Given the description of an element on the screen output the (x, y) to click on. 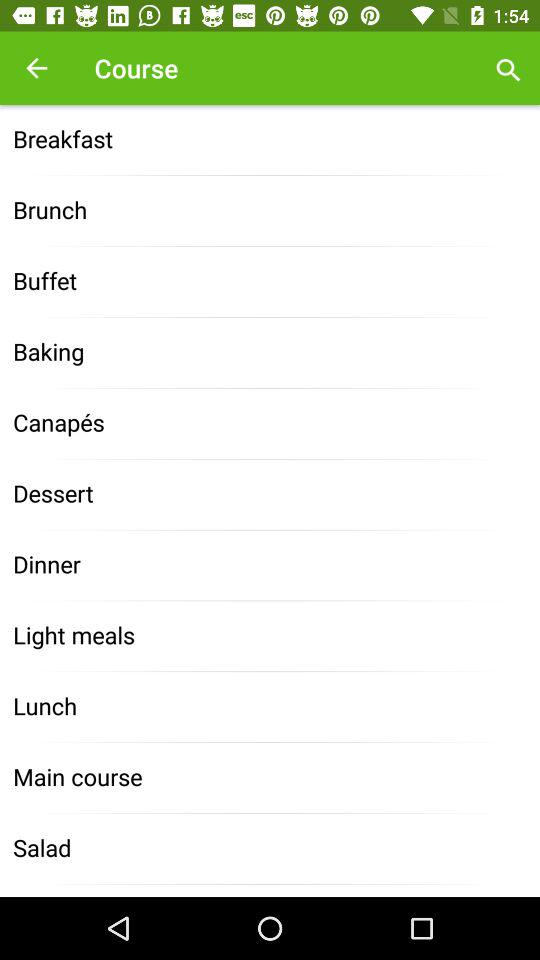
select icon below light meals item (270, 706)
